Given the description of an element on the screen output the (x, y) to click on. 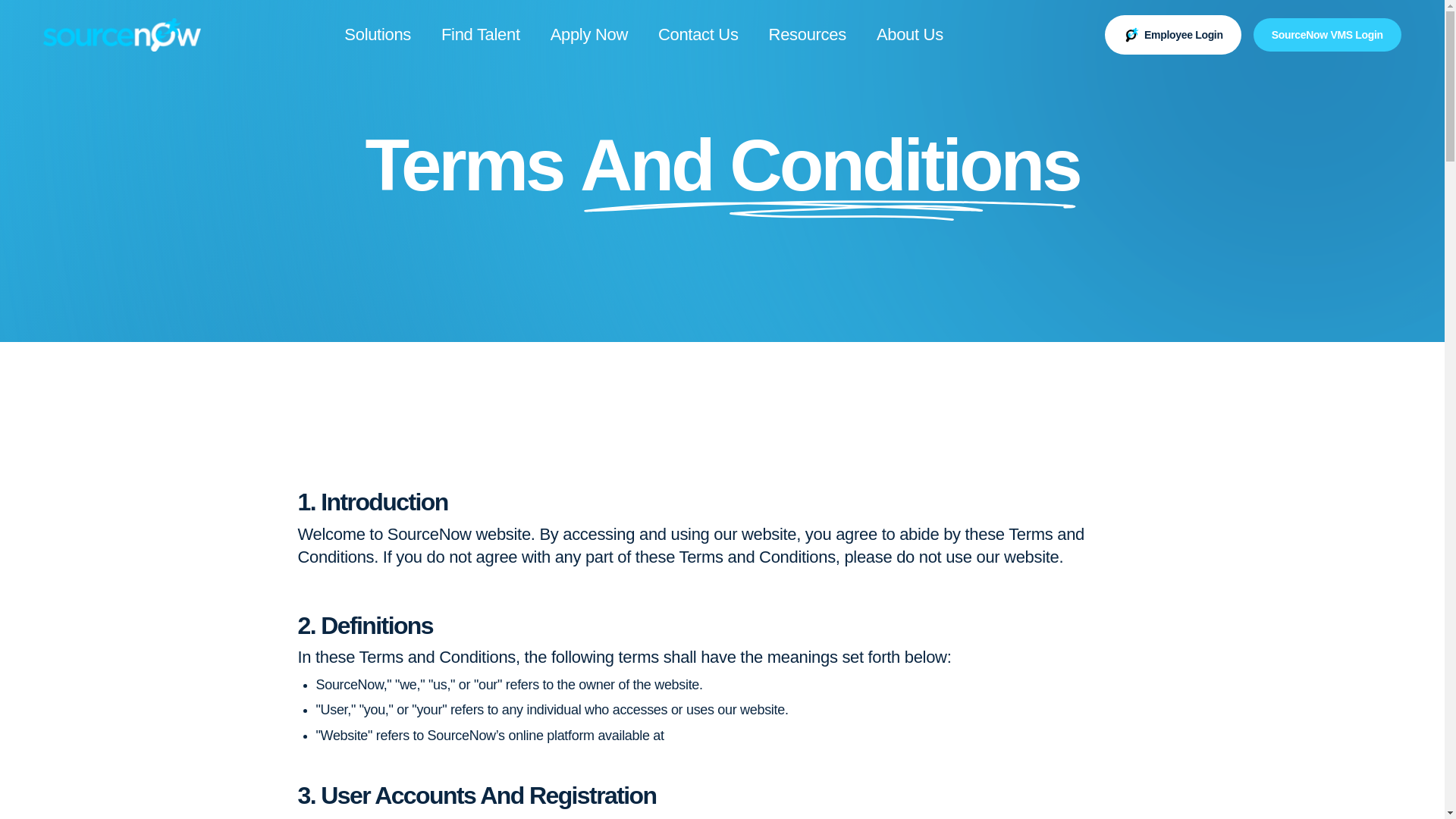
About Us (909, 35)
Contact Us (698, 35)
Employee Login (1173, 34)
SourceNow VMS Login (1326, 35)
Find Talent (480, 35)
